Given the description of an element on the screen output the (x, y) to click on. 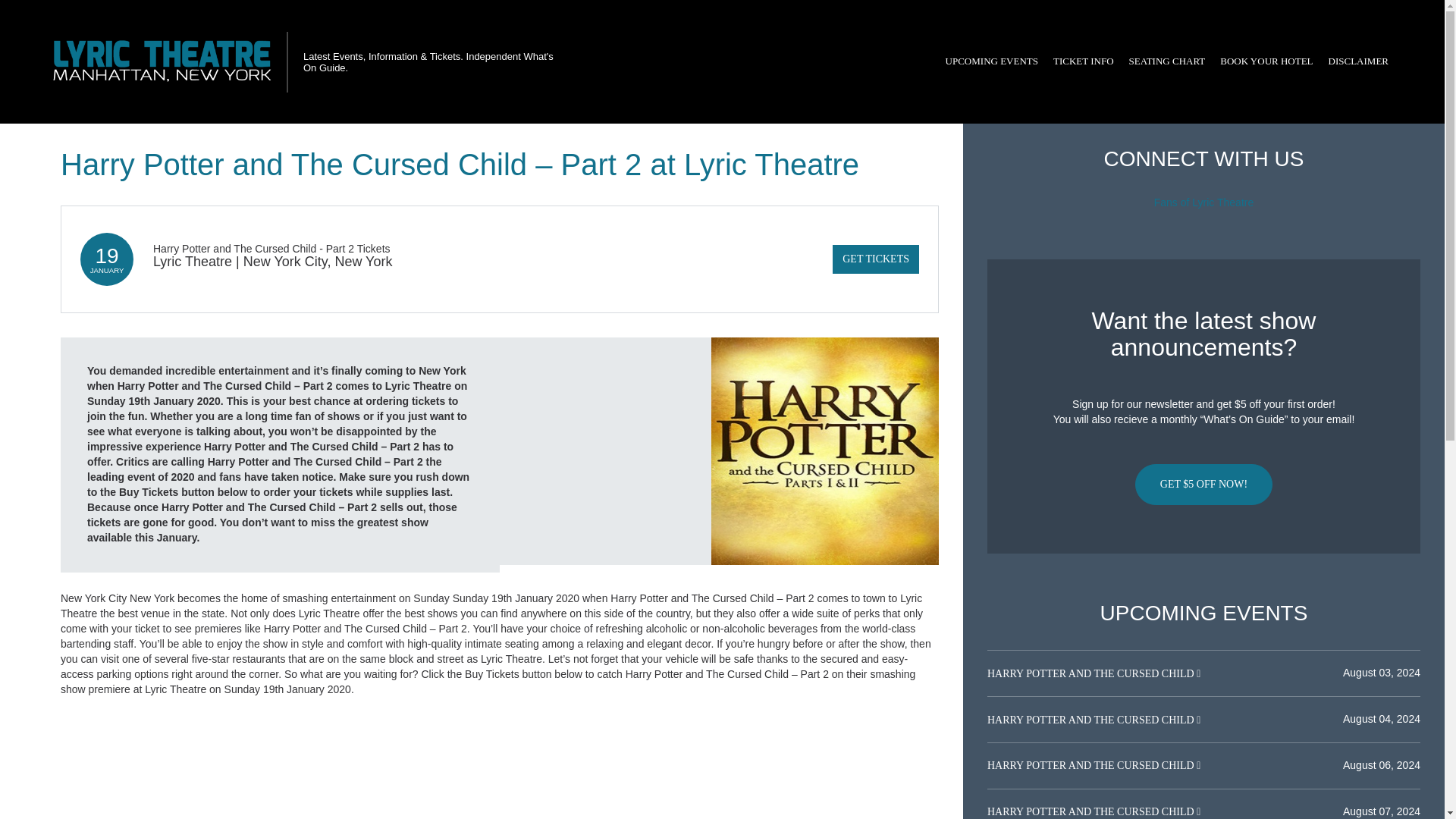
Fans of Lyric Theatre (1203, 202)
GET TICKETS (875, 258)
BOOK YOUR HOTEL (1266, 61)
DISCLAIMER (1358, 61)
Harry Potter and The Cursed Child - Part 2 at Lyric Theatre (825, 451)
TICKET INFO (1083, 61)
SEATING CHART (1166, 61)
Harry Potter and The Cursed Child - Part 2 Tickets (271, 248)
UPCOMING EVENTS (991, 61)
